Given the description of an element on the screen output the (x, y) to click on. 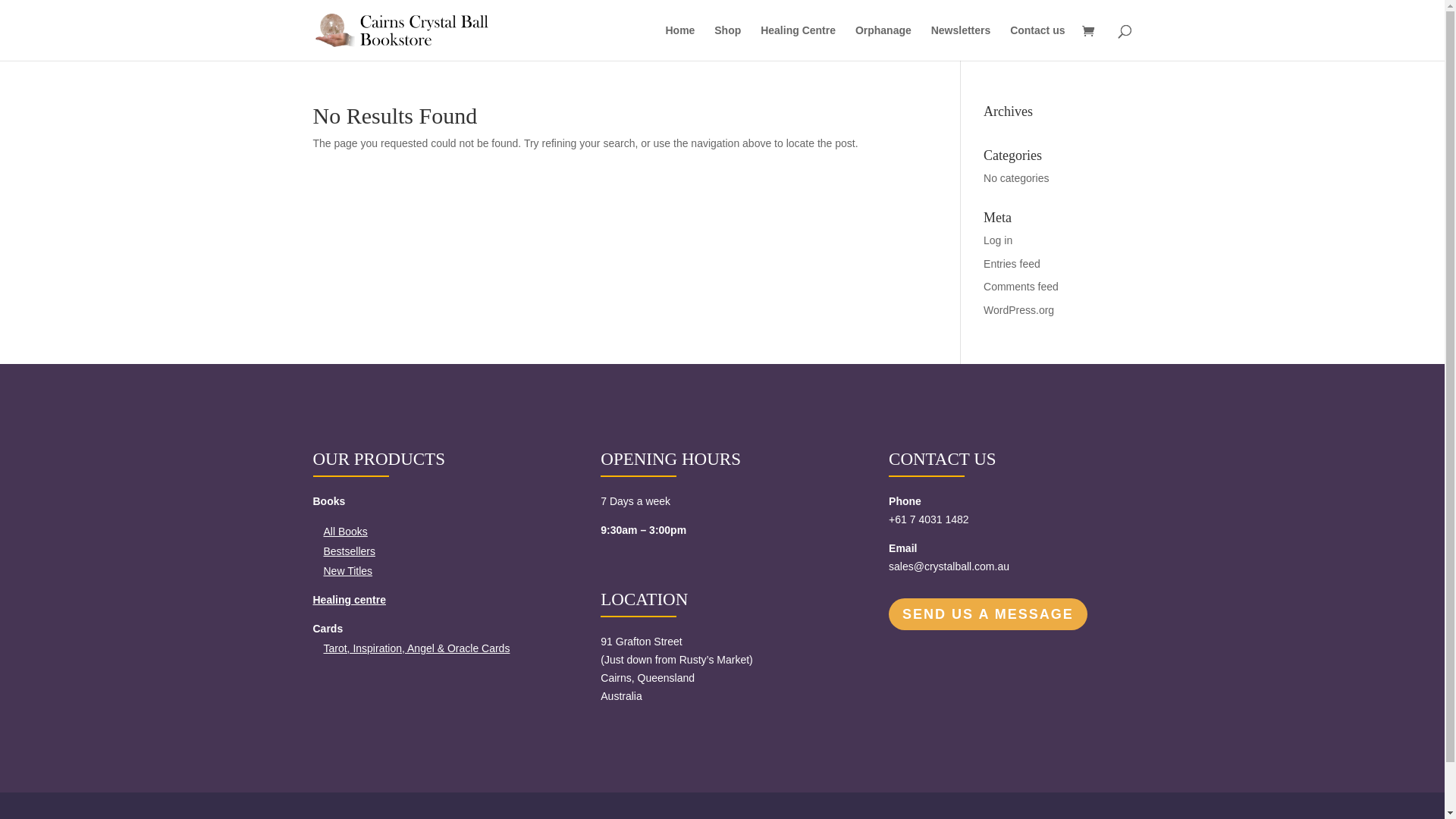
SEND US A MESSAGE Element type: text (987, 613)
Shop Element type: text (727, 42)
Healing centre Element type: text (348, 599)
Tarot, Inspiration, Angel & Oracle Cards Element type: text (416, 648)
New Titles Element type: text (347, 570)
Newsletters Element type: text (961, 42)
All Books Element type: text (345, 531)
Bestsellers Element type: text (348, 551)
Comments feed Element type: text (1020, 286)
Healing Centre Element type: text (797, 42)
WordPress.org Element type: text (1018, 310)
Log in Element type: text (997, 240)
Contact us Element type: text (1037, 42)
Entries feed Element type: text (1011, 263)
Home Element type: text (679, 42)
Orphanage Element type: text (883, 42)
